Given the description of an element on the screen output the (x, y) to click on. 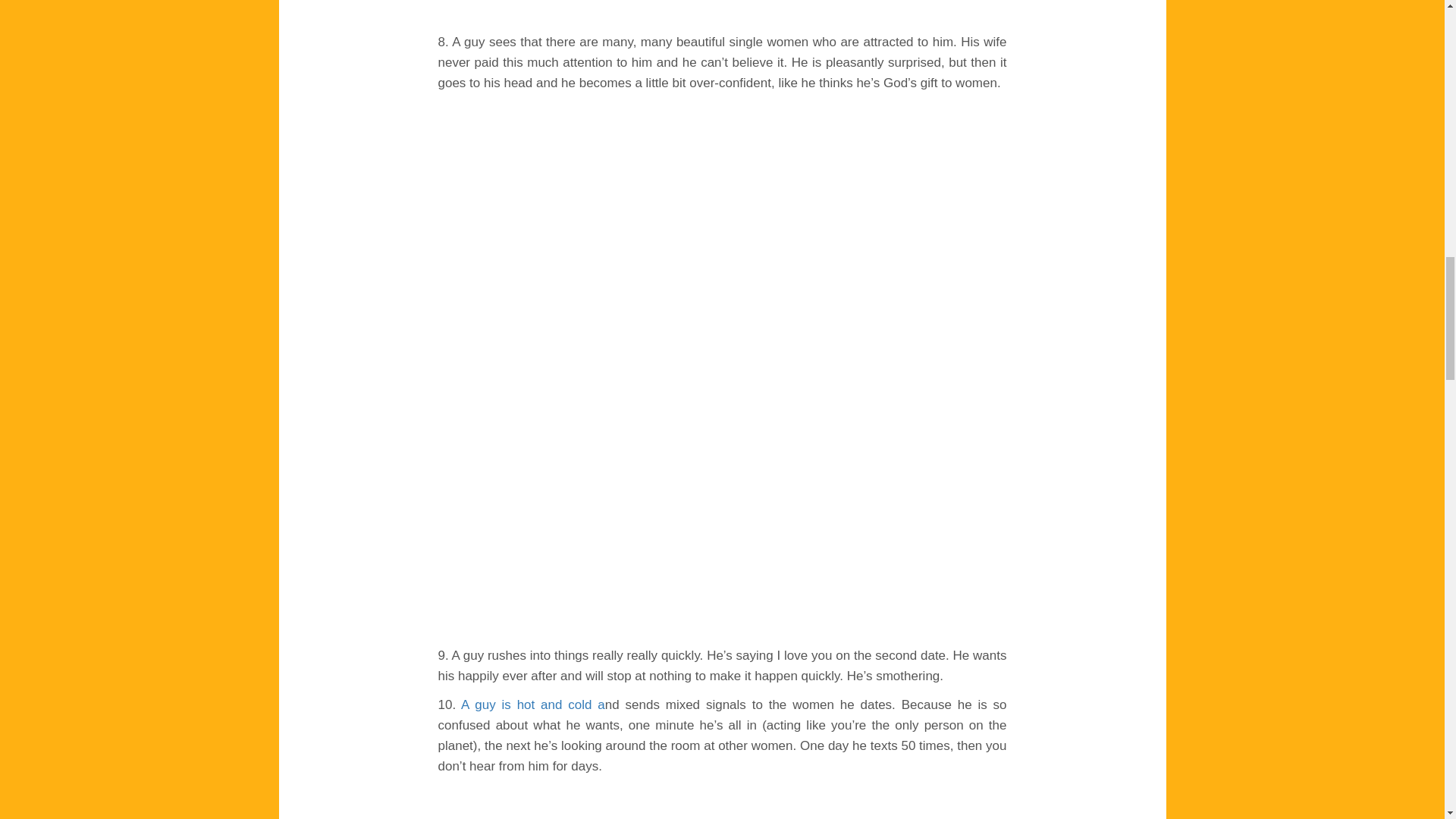
Dating Someone Who is Hot and Cold Can Really Burn! (533, 704)
